Given the description of an element on the screen output the (x, y) to click on. 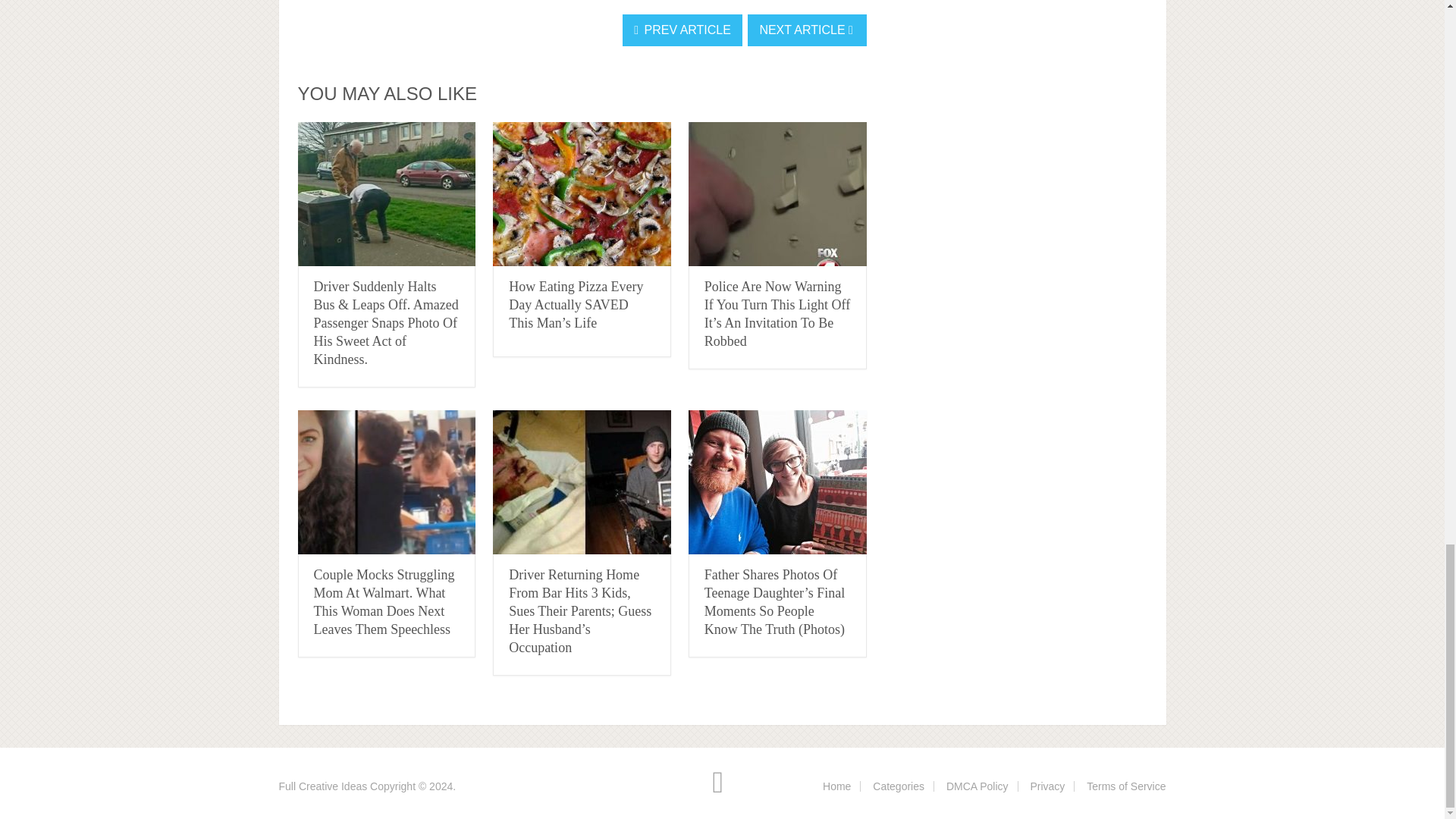
Privacy (1046, 786)
Full Creative Ideas (323, 786)
Home (836, 786)
Categories (898, 786)
PREV ARTICLE (682, 29)
DMCA Policy (977, 786)
Terms of Service (1126, 786)
NEXT ARTICLE (807, 29)
